Given the description of an element on the screen output the (x, y) to click on. 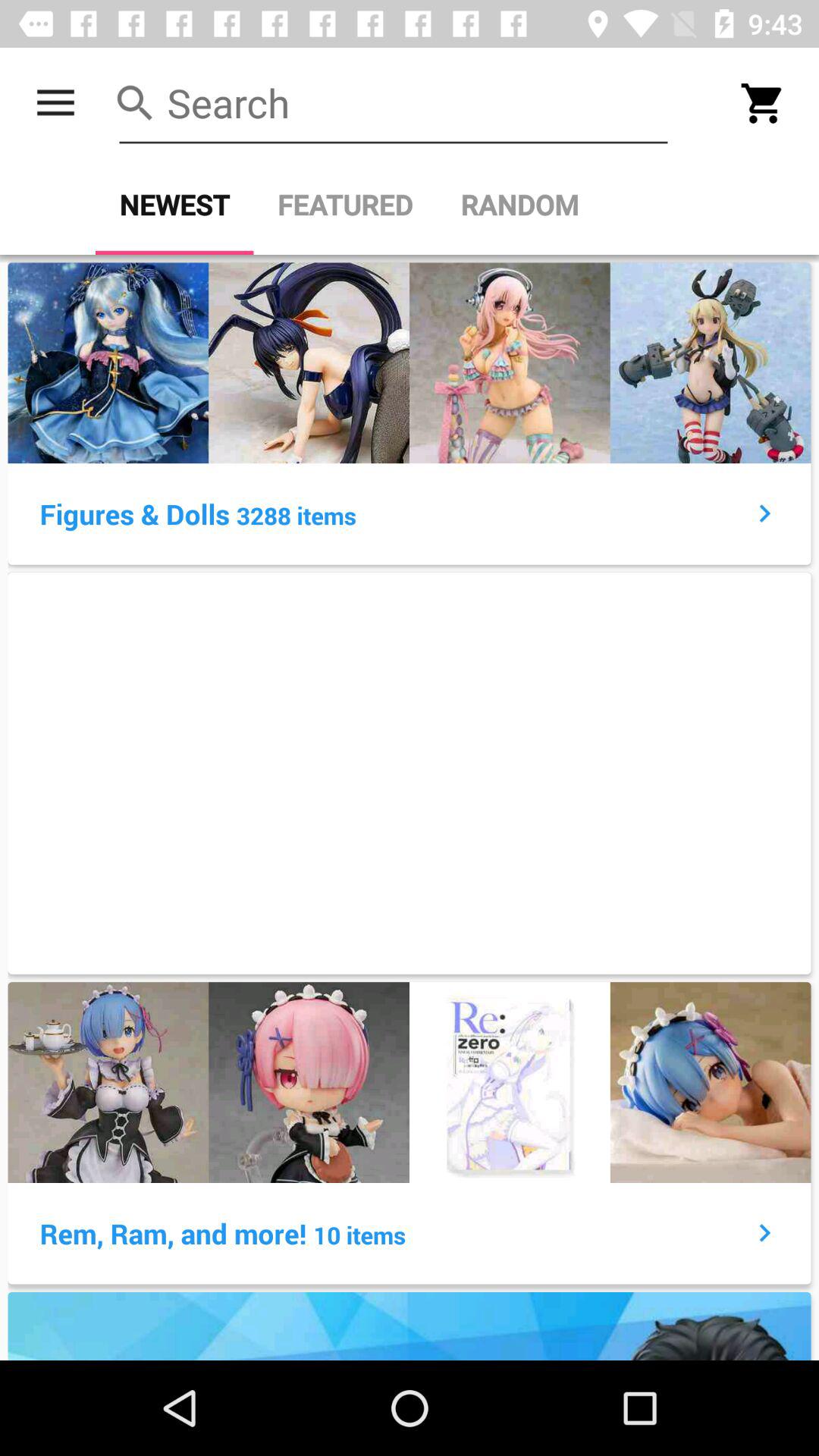
tap icon above the newest item (55, 103)
